Given the description of an element on the screen output the (x, y) to click on. 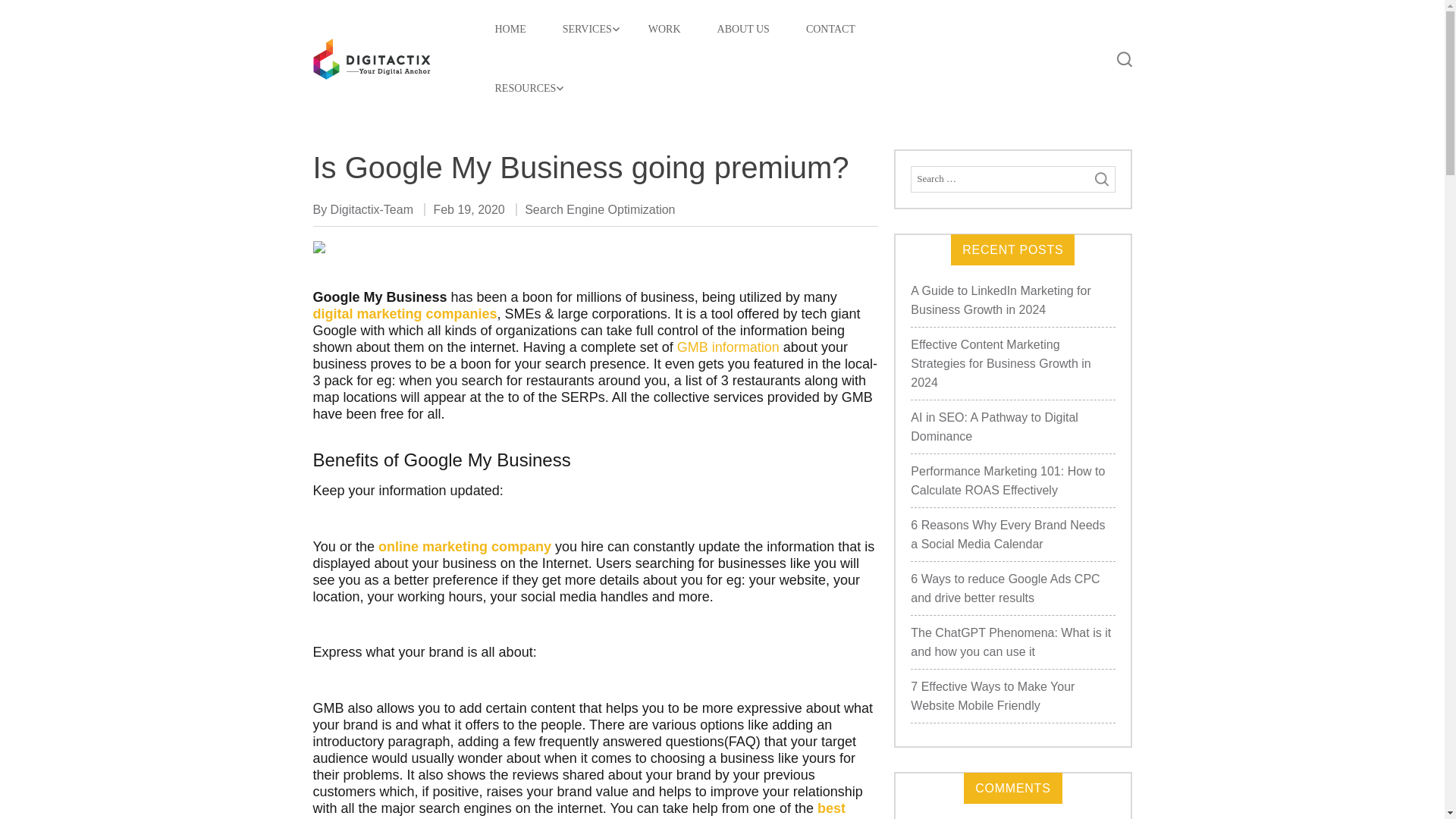
HOME (509, 29)
SERVICES (587, 29)
